Given the description of an element on the screen output the (x, y) to click on. 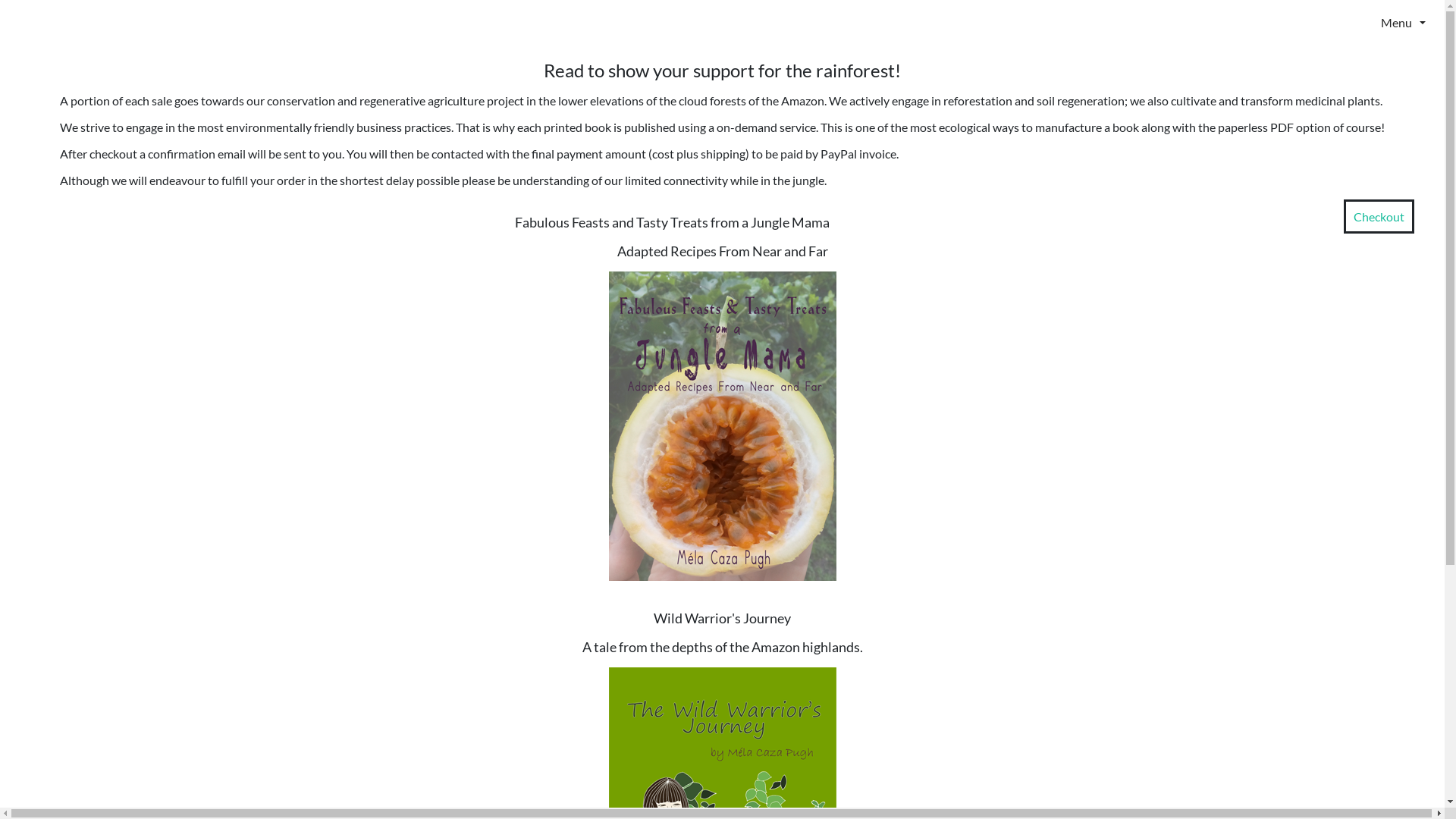
                                      Menu   Element type: text (1359, 22)
Checkout Element type: text (1378, 216)
